Given the description of an element on the screen output the (x, y) to click on. 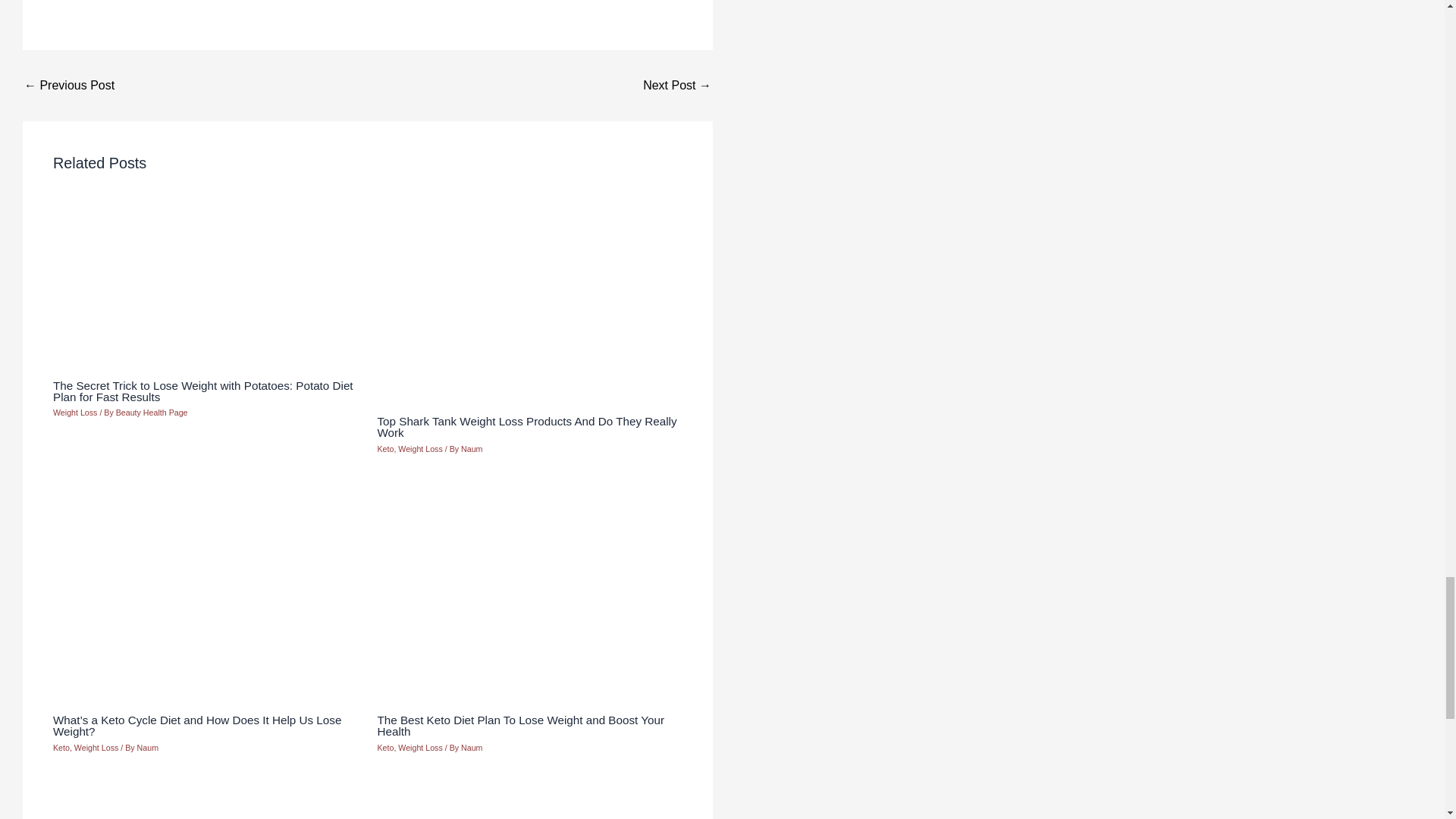
View all posts by Beauty Health Page (151, 411)
View all posts by Naum (147, 747)
10 Amazing Reasons to Add More Turmeric to Your Diet Today (69, 85)
View all posts by Naum (471, 448)
12 Simple Things You Can Do To Improve Your Sleep Tonight (677, 85)
Weight Loss (74, 411)
View all posts by Naum (471, 747)
Beauty Health Page (151, 411)
Top Shark Tank Weight Loss Products And Do They Really Work (527, 426)
